Given the description of an element on the screen output the (x, y) to click on. 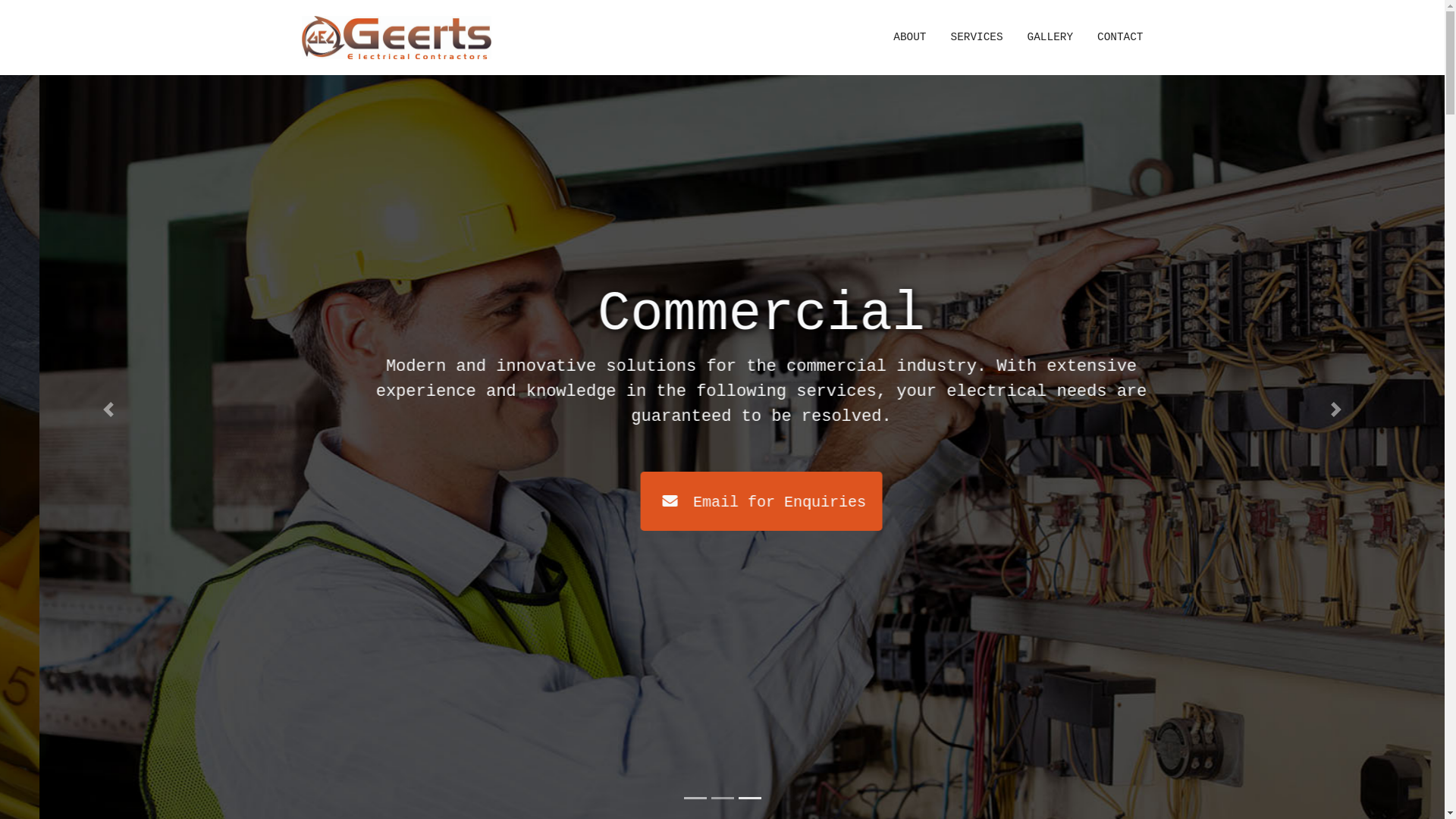
GALLERY Element type: text (1050, 37)
Email for Enquiries Element type: text (622, 500)
ABOUT Element type: text (909, 37)
SERVICES Element type: text (976, 37)
CONTACT Element type: text (1113, 37)
